Given the description of an element on the screen output the (x, y) to click on. 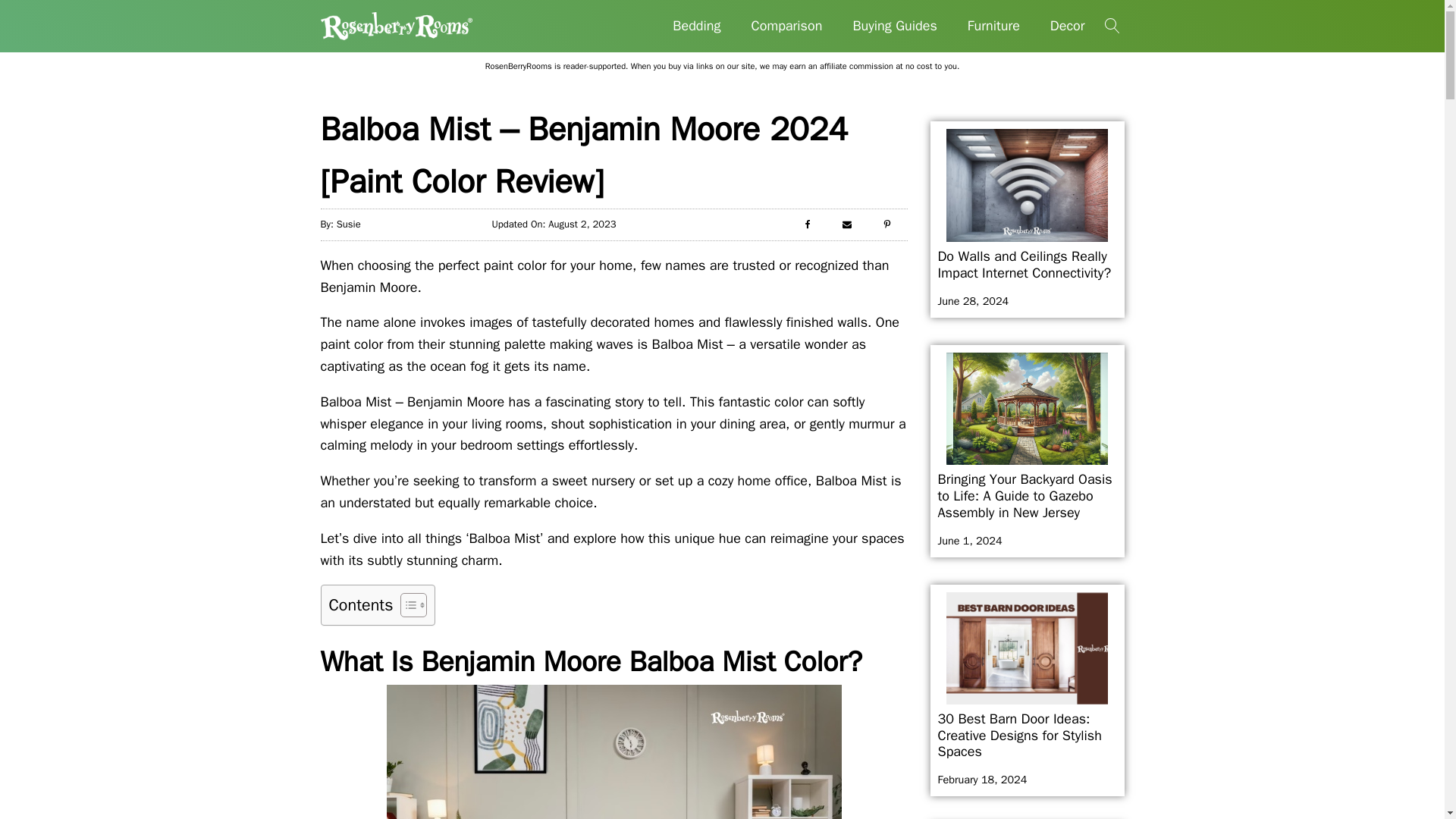
Comparison (787, 26)
Search (27, 10)
Buying Guides (894, 26)
Decor (1067, 26)
Furniture (993, 26)
Bedding (696, 26)
